Given the description of an element on the screen output the (x, y) to click on. 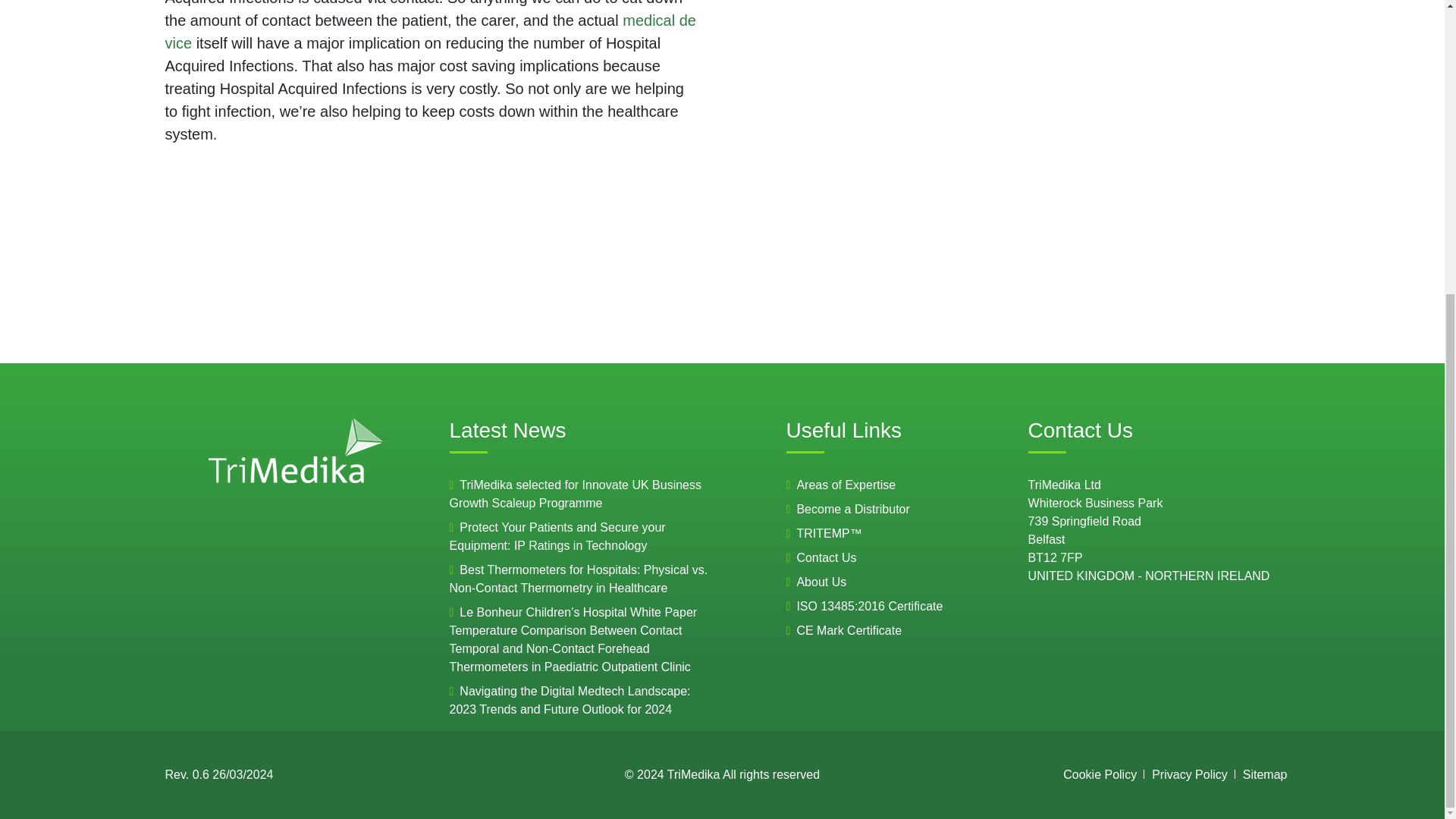
About Us (820, 581)
Contact Us (826, 557)
Become a Distributor (852, 508)
Privacy Policy (1189, 774)
Cookie Policy (1099, 774)
ISO 13485:2016 Certificate (869, 605)
CE Mark Certificate (848, 630)
Areas of Expertise (845, 484)
medical device (430, 31)
